Given the description of an element on the screen output the (x, y) to click on. 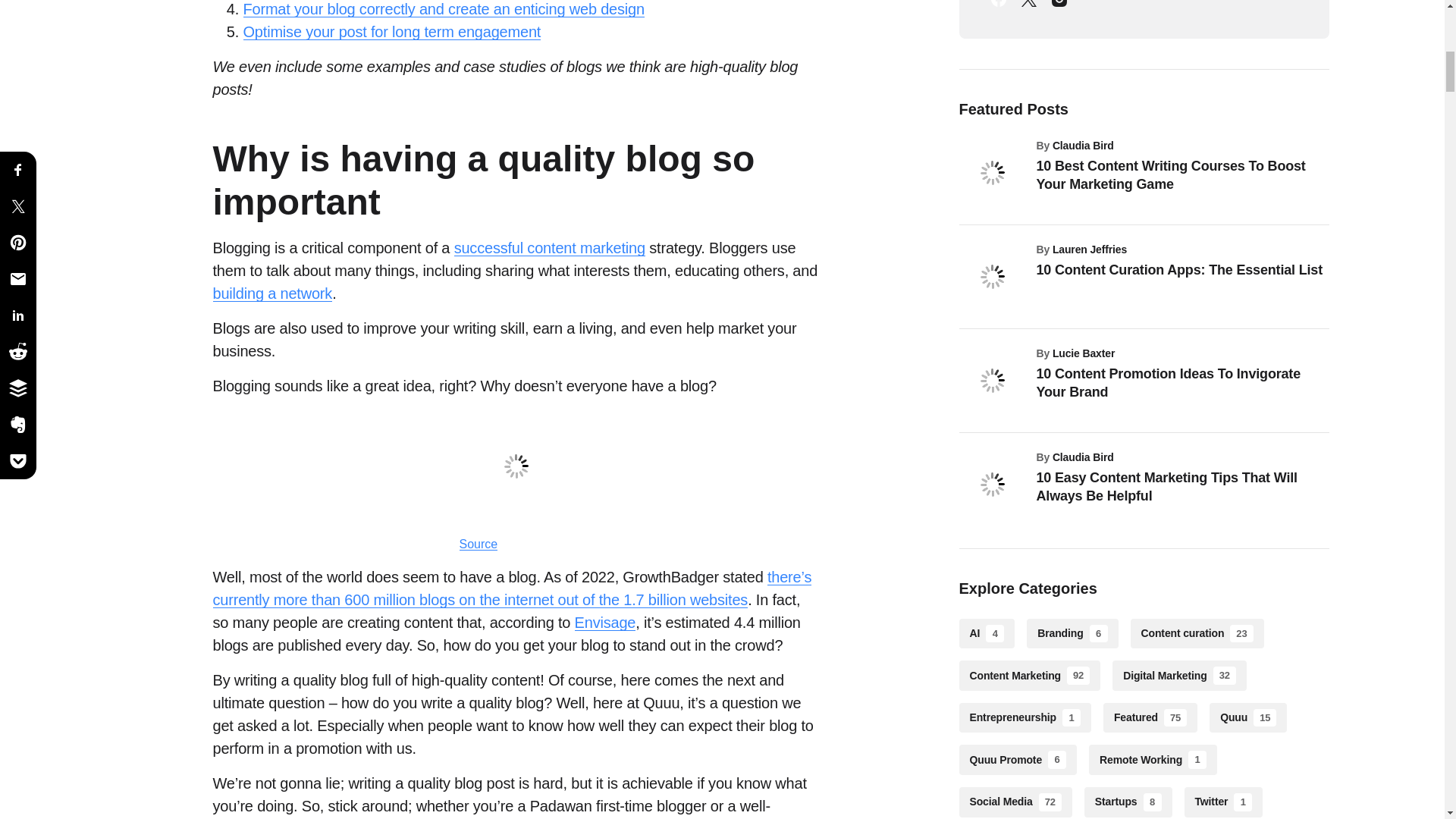
Source (478, 544)
content marketing (583, 248)
Envisage (605, 622)
successful (488, 248)
Facebook (997, 7)
building a network (271, 293)
Instagram (1058, 7)
Format your blog correctly and create an enticing web design (443, 8)
Optimise your post for long term engagement (391, 31)
Twitter (1028, 7)
